Given the description of an element on the screen output the (x, y) to click on. 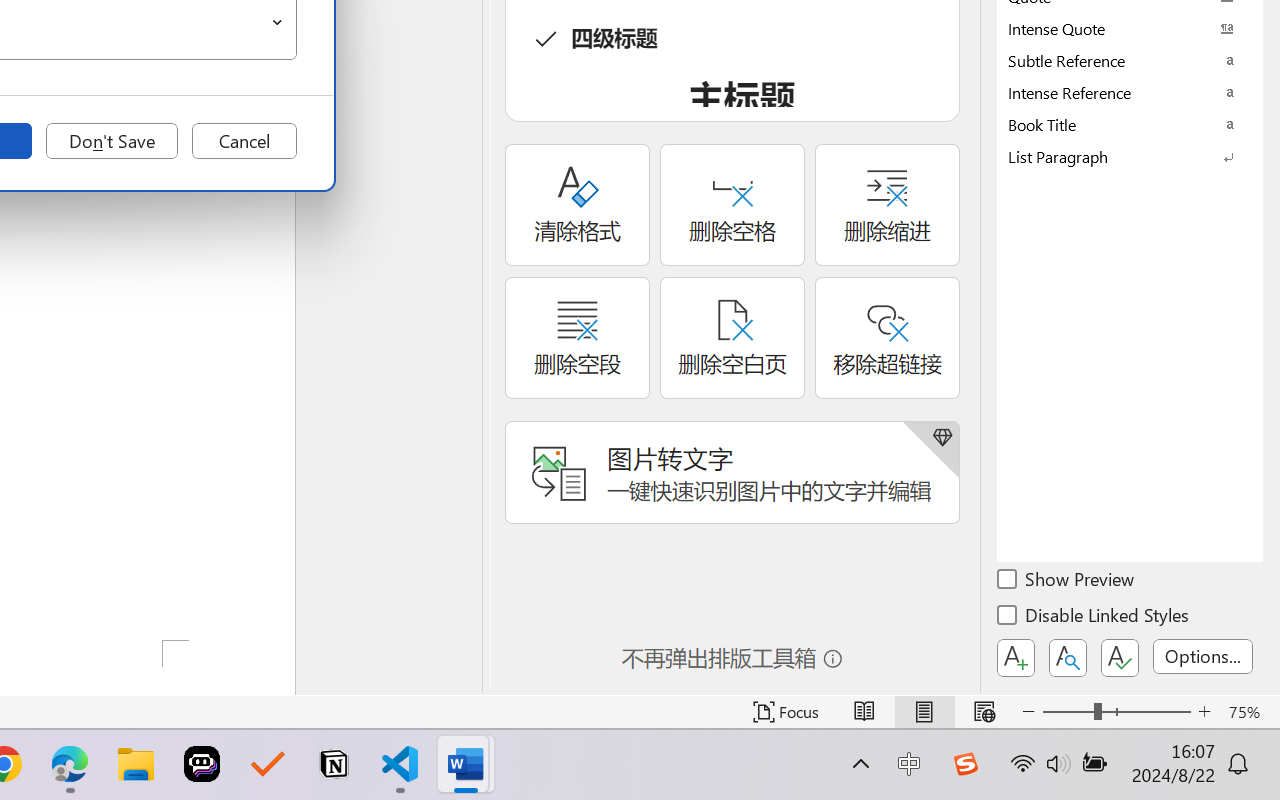
Focus  (786, 712)
Don't Save (111, 141)
Class: NetUIImage (1116, 156)
Book Title (1130, 124)
